Given the description of an element on the screen output the (x, y) to click on. 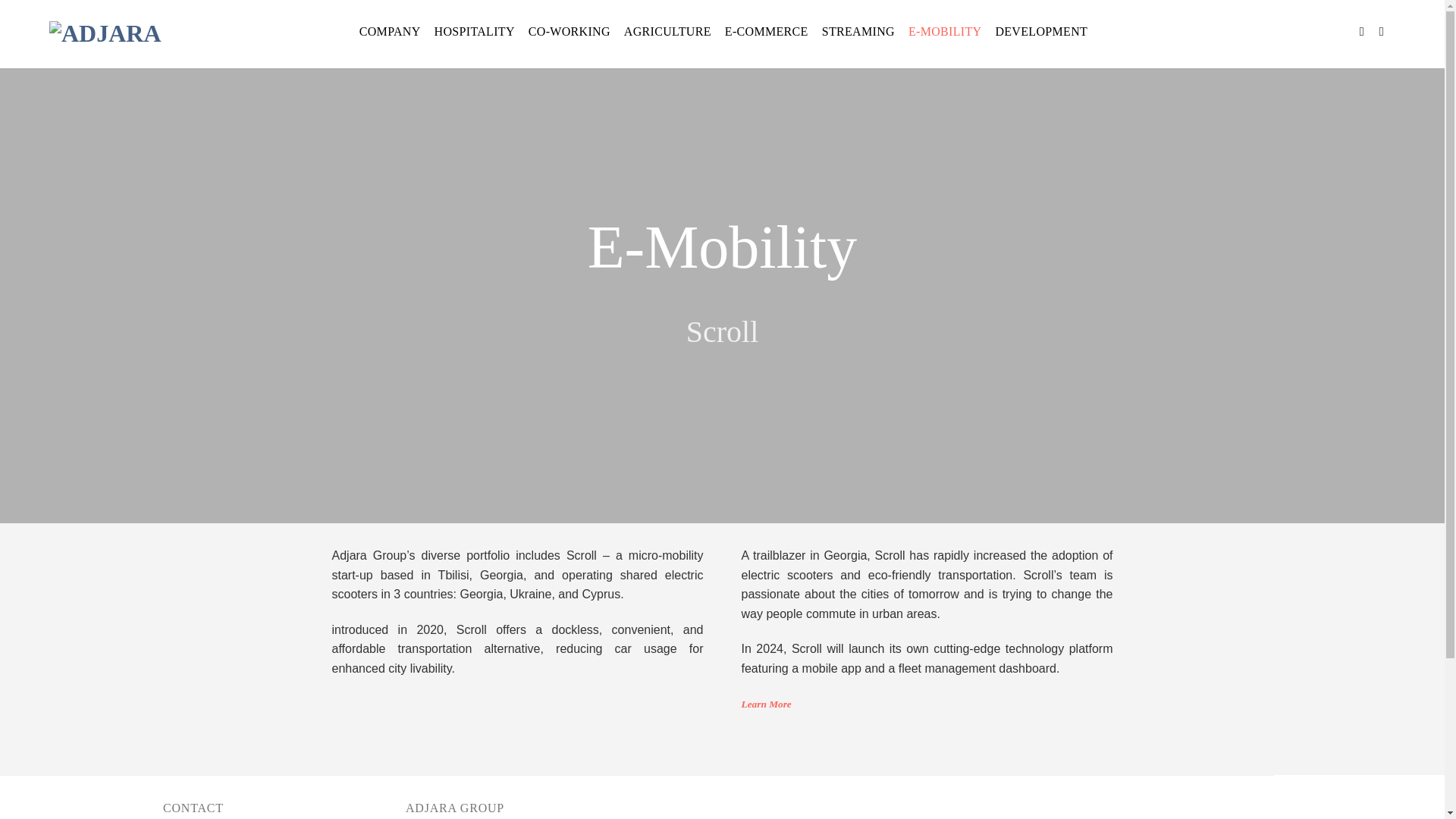
COMPANY (389, 31)
Learn More (766, 704)
HOSPITALITY (474, 31)
E-COMMERCE (766, 31)
STREAMING (858, 31)
E-MOBILITY (944, 31)
CO-WORKING (569, 31)
Follow on Facebook (1365, 30)
Adjara Group (113, 31)
AGRICULTURE (667, 31)
DEVELOPMENT (1040, 31)
